Given the description of an element on the screen output the (x, y) to click on. 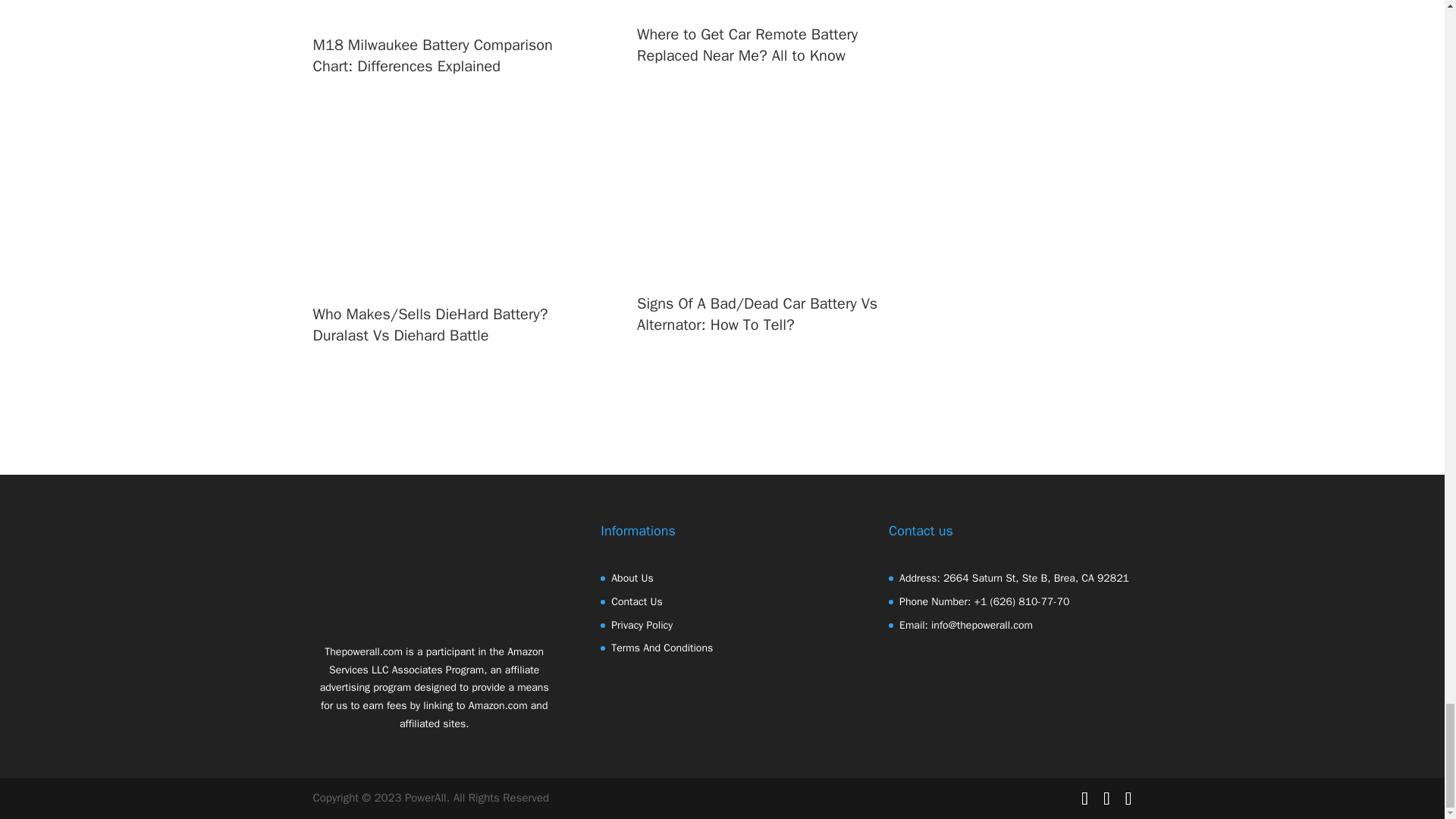
Contact Us (636, 601)
Terms And Conditions (662, 647)
About Us (631, 577)
Privacy Policy (641, 625)
